Given the description of an element on the screen output the (x, y) to click on. 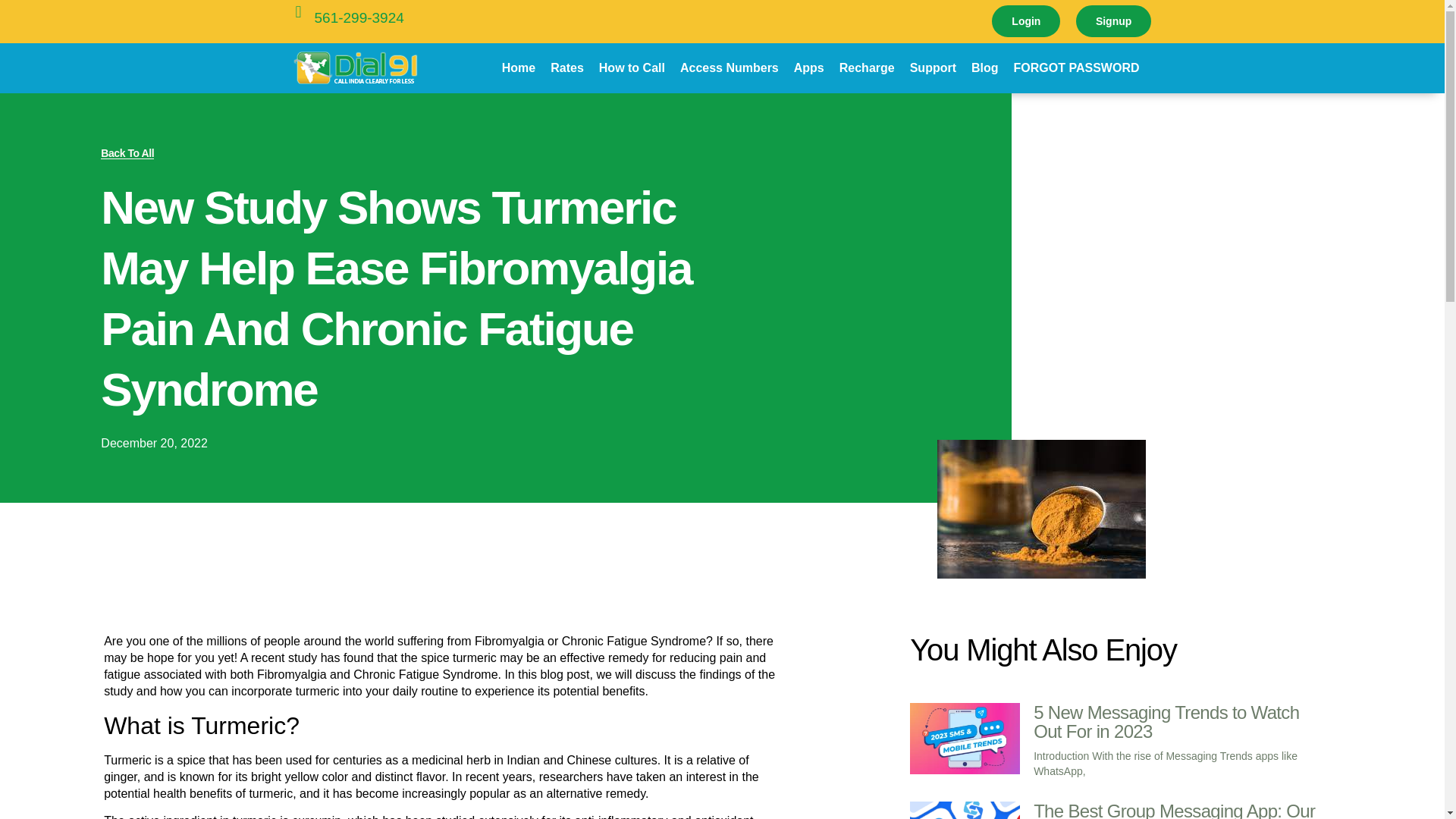
Rates (567, 67)
Home (519, 67)
Access Numbers (729, 67)
The Best Group Messaging App: Our Top Picks (1173, 809)
561-299-3924 (358, 17)
FORGOT PASSWORD (1076, 67)
Login (1025, 20)
Signup (1113, 20)
Back To All (127, 153)
Support (932, 67)
5 New Messaging Trends to Watch Out For in 2023 (1165, 721)
Apps (808, 67)
Recharge (866, 67)
Blog (984, 67)
How to Call (631, 67)
